Given the description of an element on the screen output the (x, y) to click on. 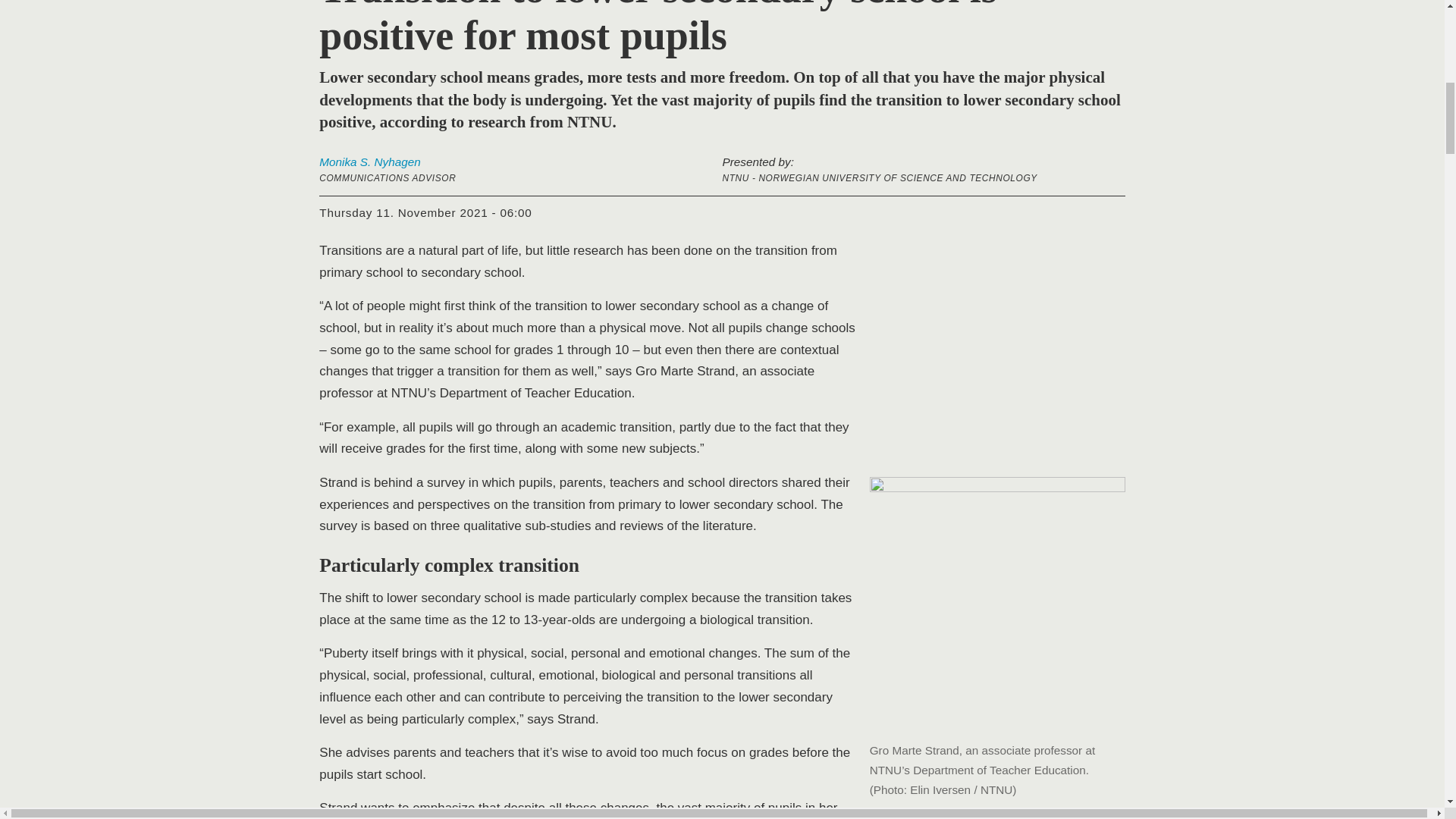
Monika S. Nyhagen (369, 161)
 thursday 11. November 2021 - 06:00 (424, 213)
